Given the description of an element on the screen output the (x, y) to click on. 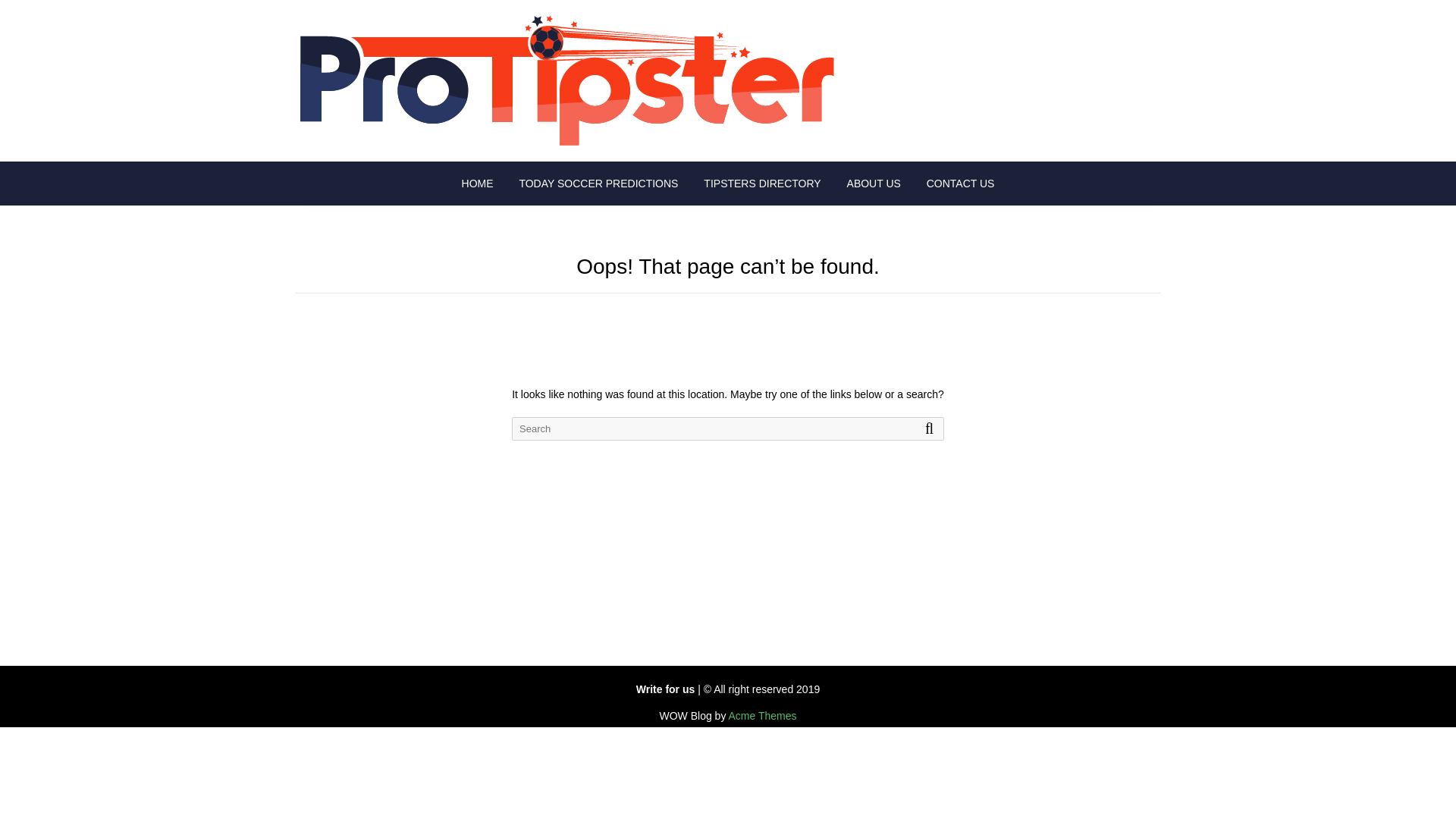
TODAY SOCCER PREDICTIONS (597, 183)
CONTACT US (960, 183)
ABOUT US (873, 183)
Acme Themes (762, 715)
Write for us (665, 689)
TIPSTERS DIRECTORY (762, 183)
HOME (477, 183)
